Given the description of an element on the screen output the (x, y) to click on. 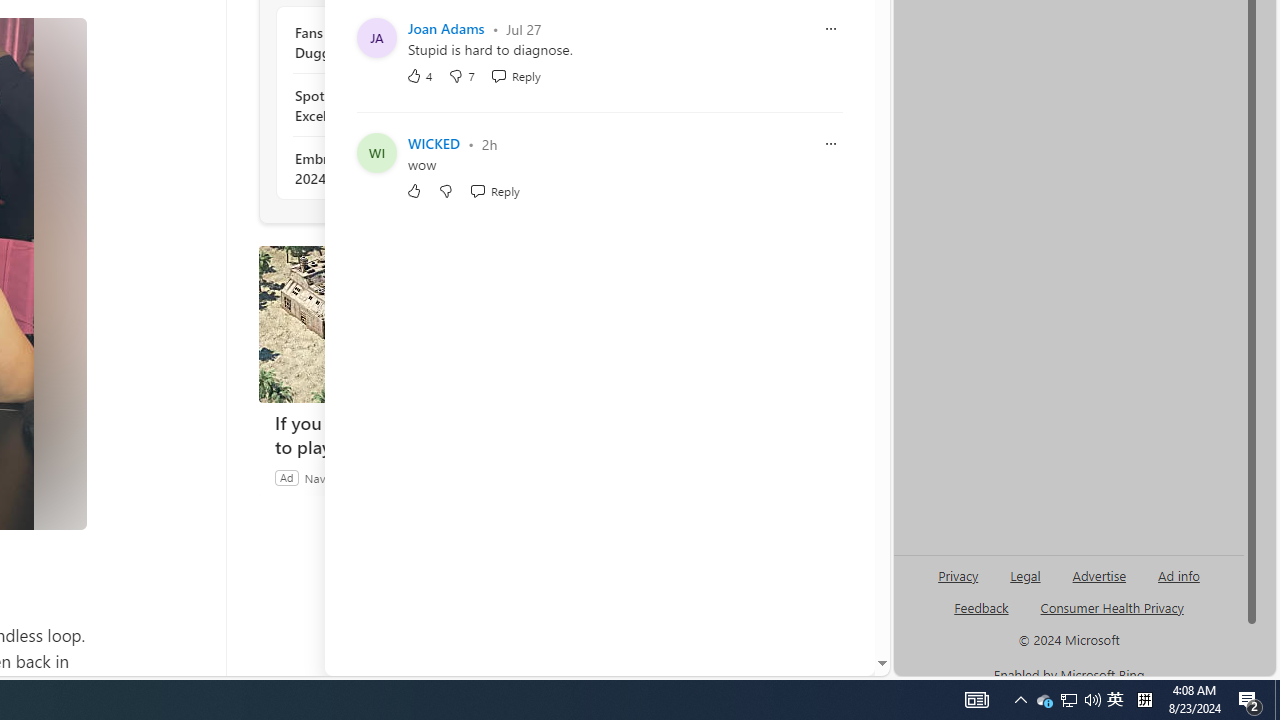
Navy Quest Game (351, 477)
WICKED (434, 143)
If you have a mouse, you have to play this game. (407, 435)
AutomationID: sb_feedback (980, 607)
